Given the description of an element on the screen output the (x, y) to click on. 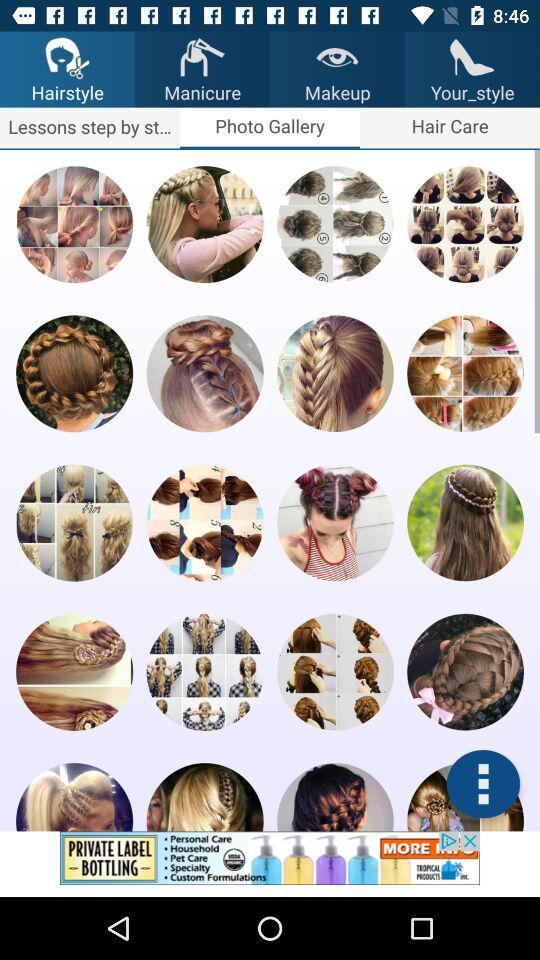
braid choice (204, 373)
